Given the description of an element on the screen output the (x, y) to click on. 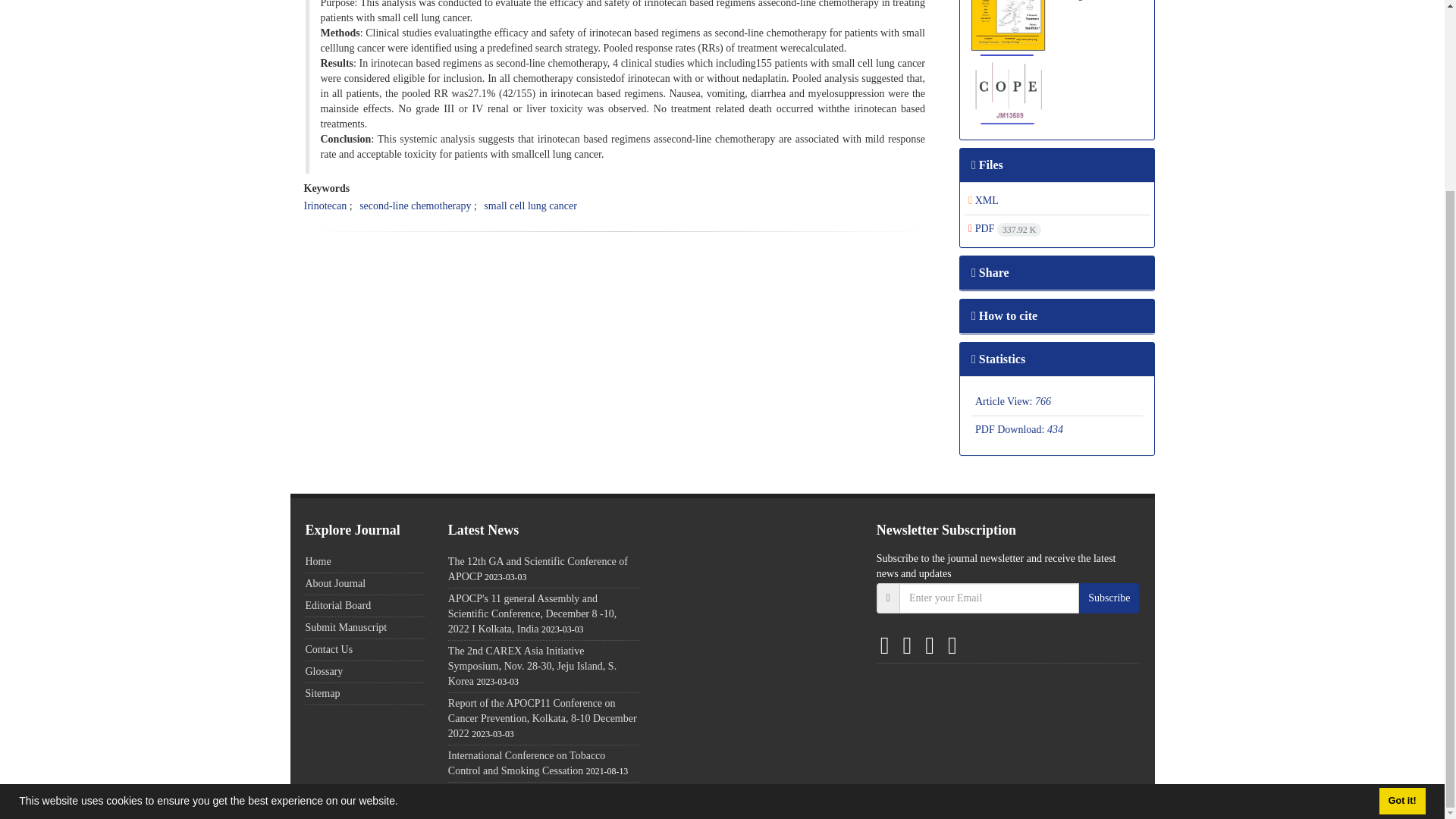
second-line chemotherapy (414, 205)
XML (983, 200)
Share (990, 272)
Got it! (1401, 561)
PDF 337.92 K (1004, 228)
Irinotecan (324, 205)
small cell lung cancer (529, 205)
Files (987, 164)
